Given the description of an element on the screen output the (x, y) to click on. 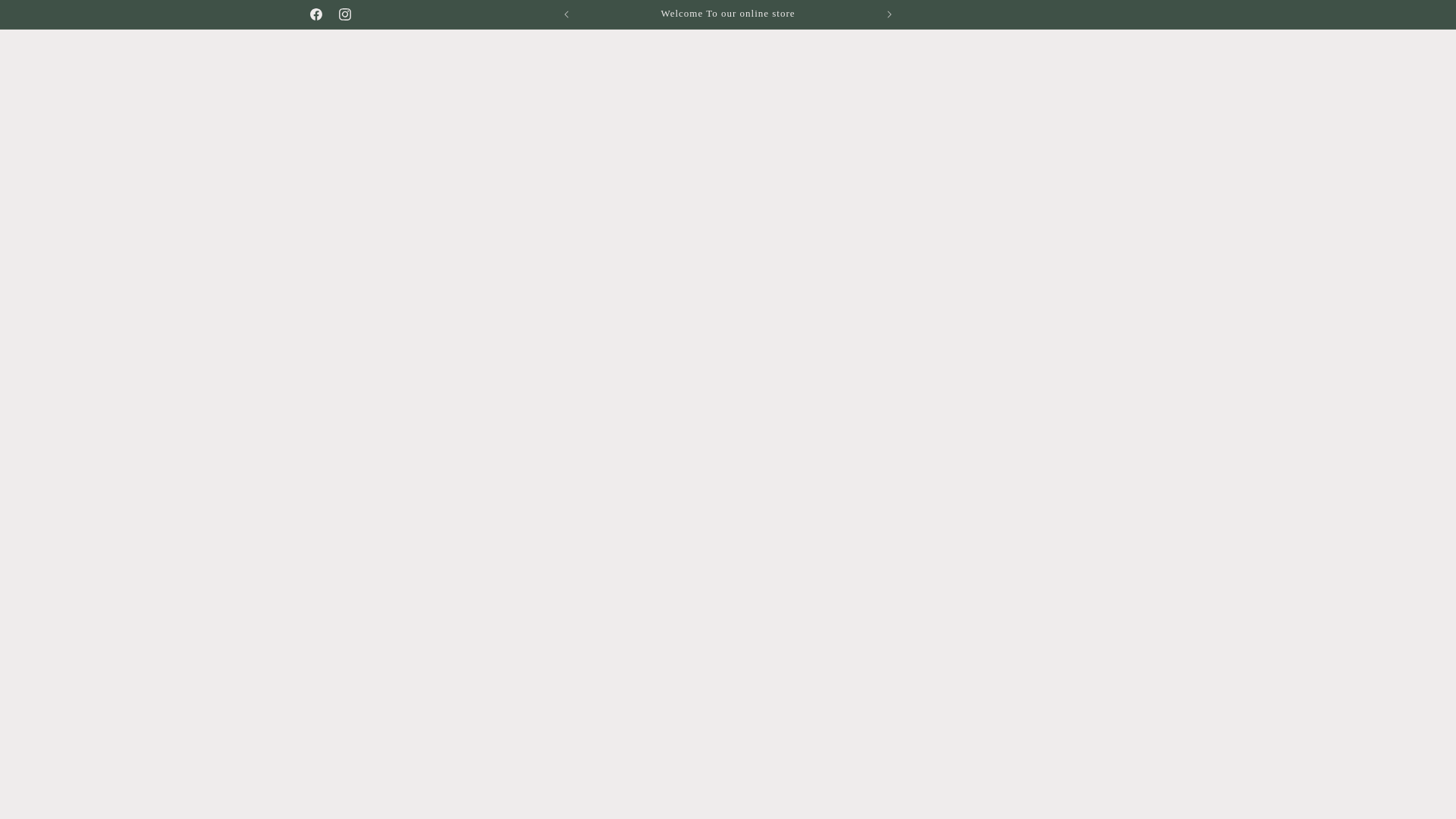
Facebook Element type: text (315, 14)
Visit our Studio 185 Johnston St Collingwood Element type: text (1032, 14)
Instagram Element type: text (344, 14)
